Given the description of an element on the screen output the (x, y) to click on. 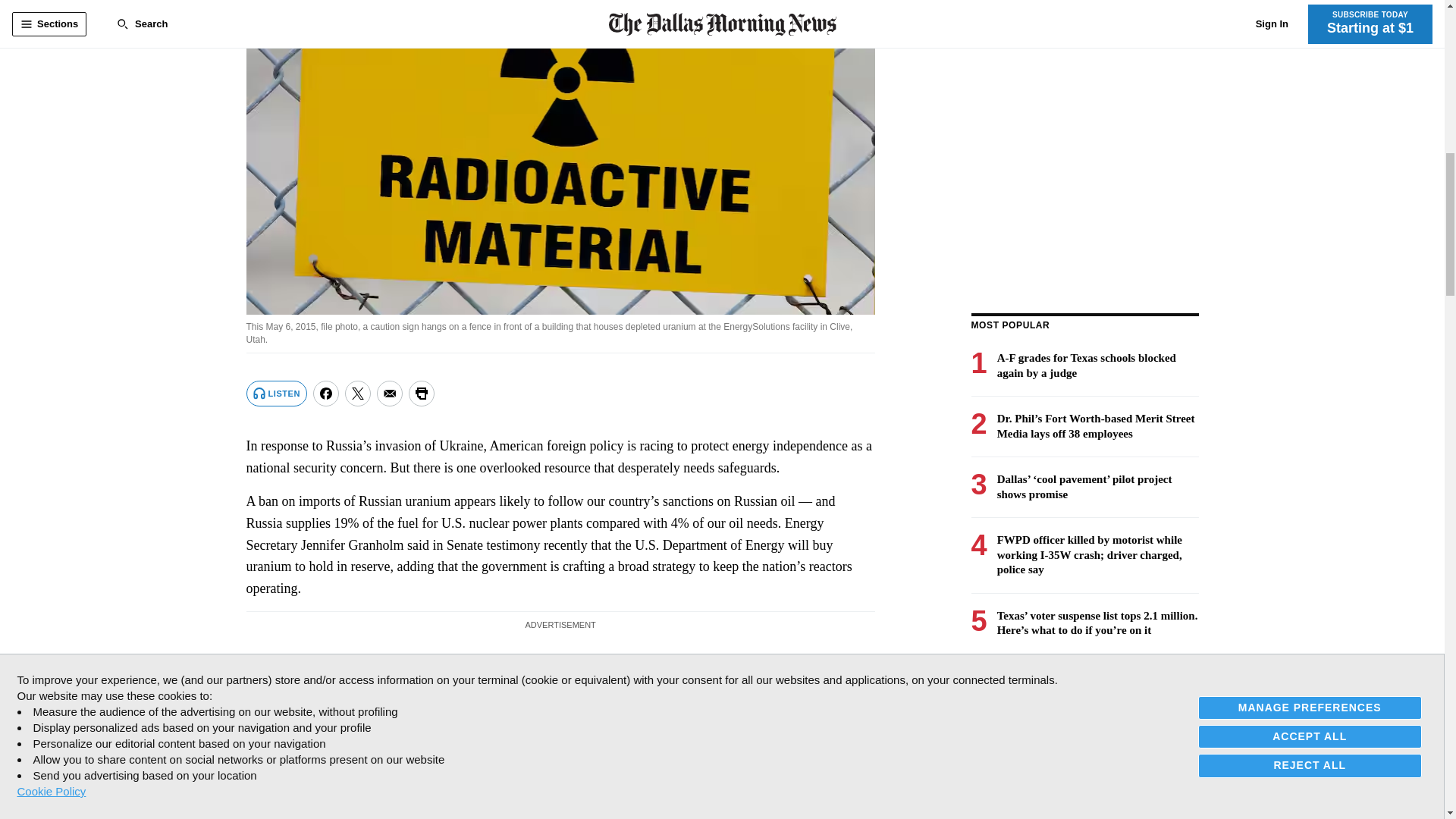
Share on Facebook (326, 393)
Share via Email (390, 393)
Share on Twitter (358, 393)
Print (421, 393)
